Given the description of an element on the screen output the (x, y) to click on. 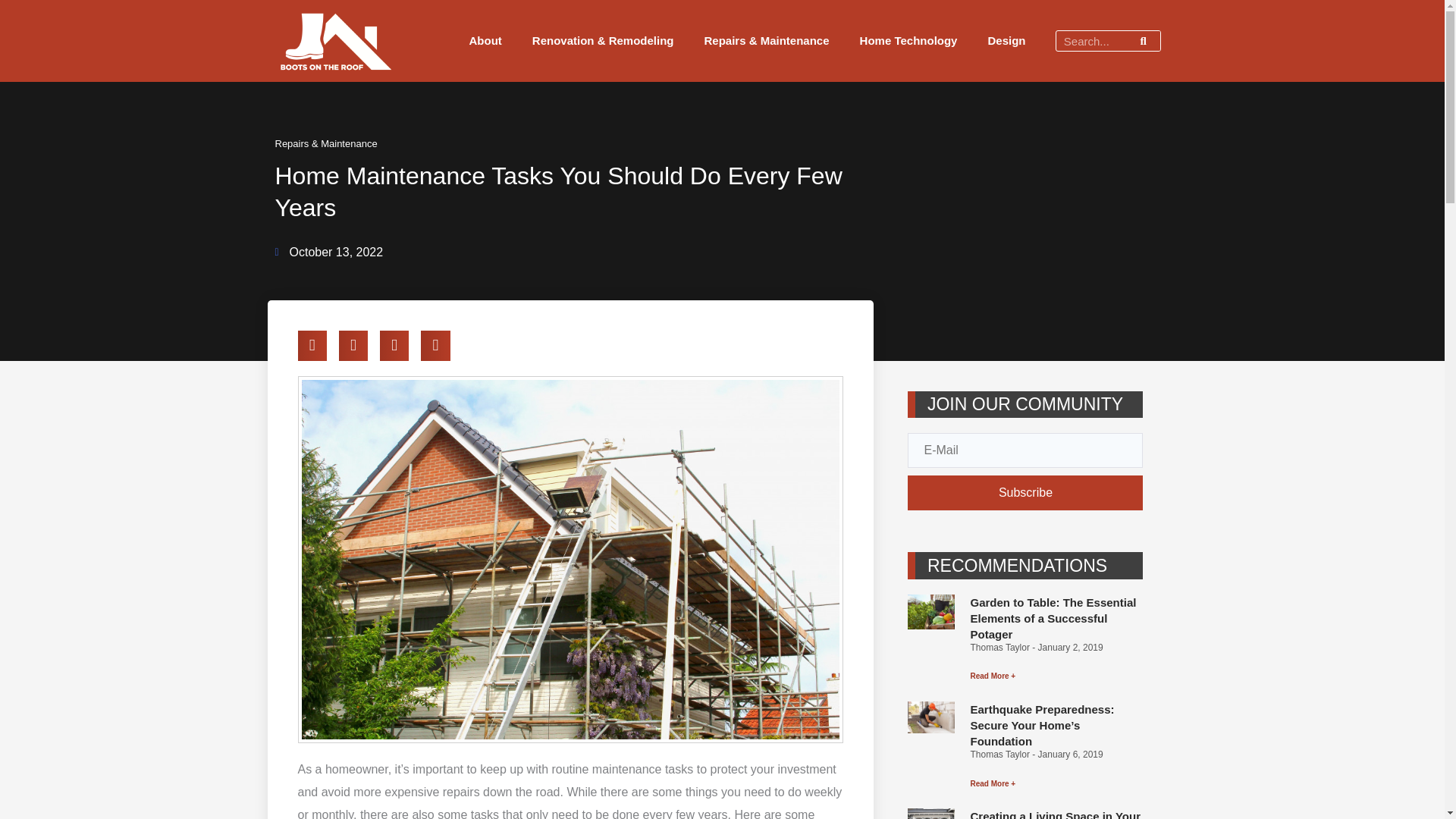
About (484, 40)
Search (1142, 40)
Home Technology (908, 40)
Subscribe (1024, 492)
October 13, 2022 (328, 251)
Design (1006, 40)
